Given the description of an element on the screen output the (x, y) to click on. 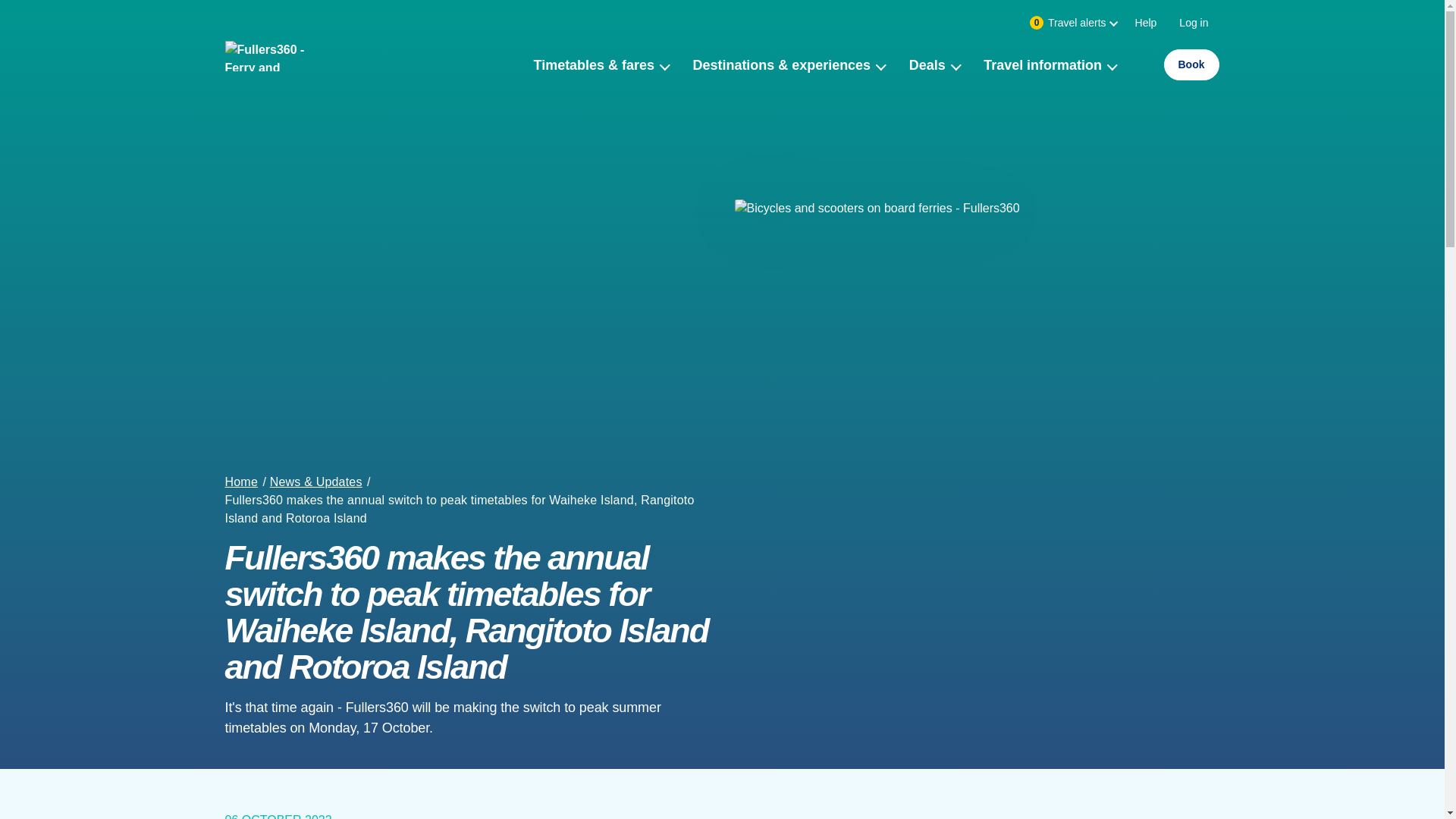
home (269, 73)
Deals (1070, 22)
Log in (934, 73)
Help (1193, 22)
Home (1146, 22)
